Given the description of an element on the screen output the (x, y) to click on. 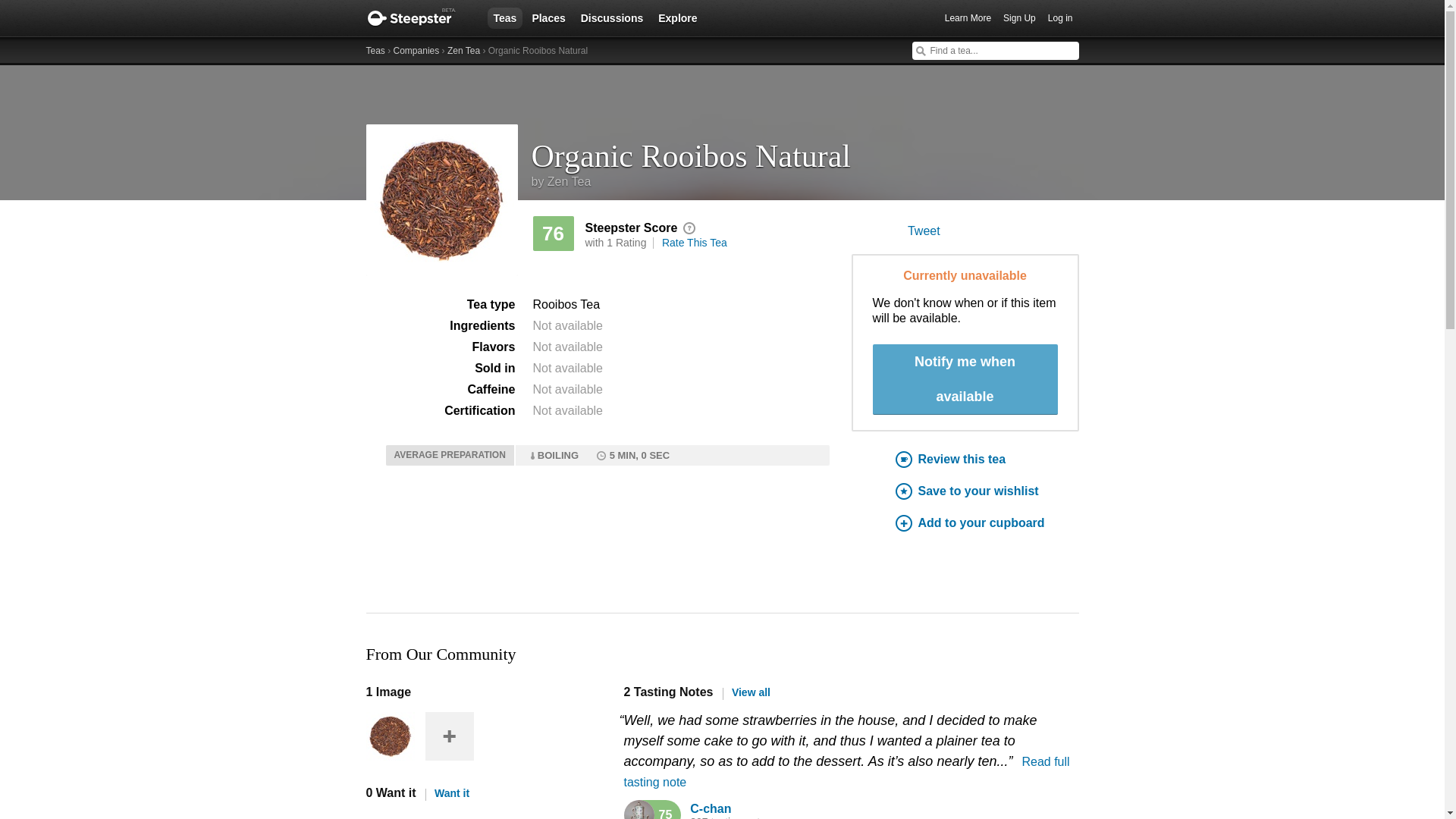
Tweet (923, 230)
Log in (1060, 18)
Teas (504, 17)
Save to your wishlist (986, 490)
Rooibos Tea (565, 304)
Zen Tea (463, 50)
View all (746, 692)
by Zen Tea (561, 181)
Explore (677, 17)
Learn More (968, 18)
